Given the description of an element on the screen output the (x, y) to click on. 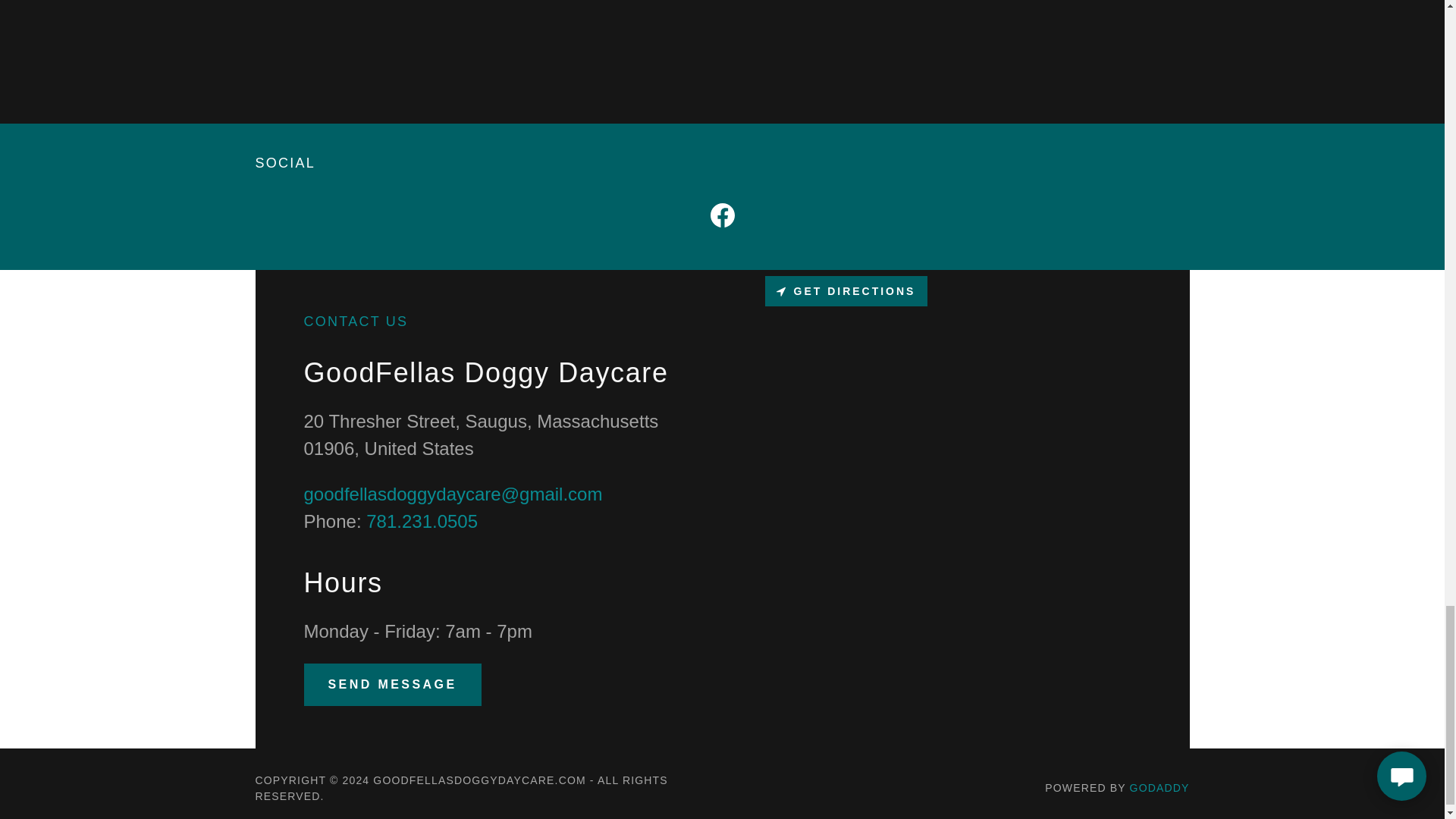
781.231.0505 (421, 521)
GET DIRECTIONS (845, 291)
SEND MESSAGE (391, 684)
